Given the description of an element on the screen output the (x, y) to click on. 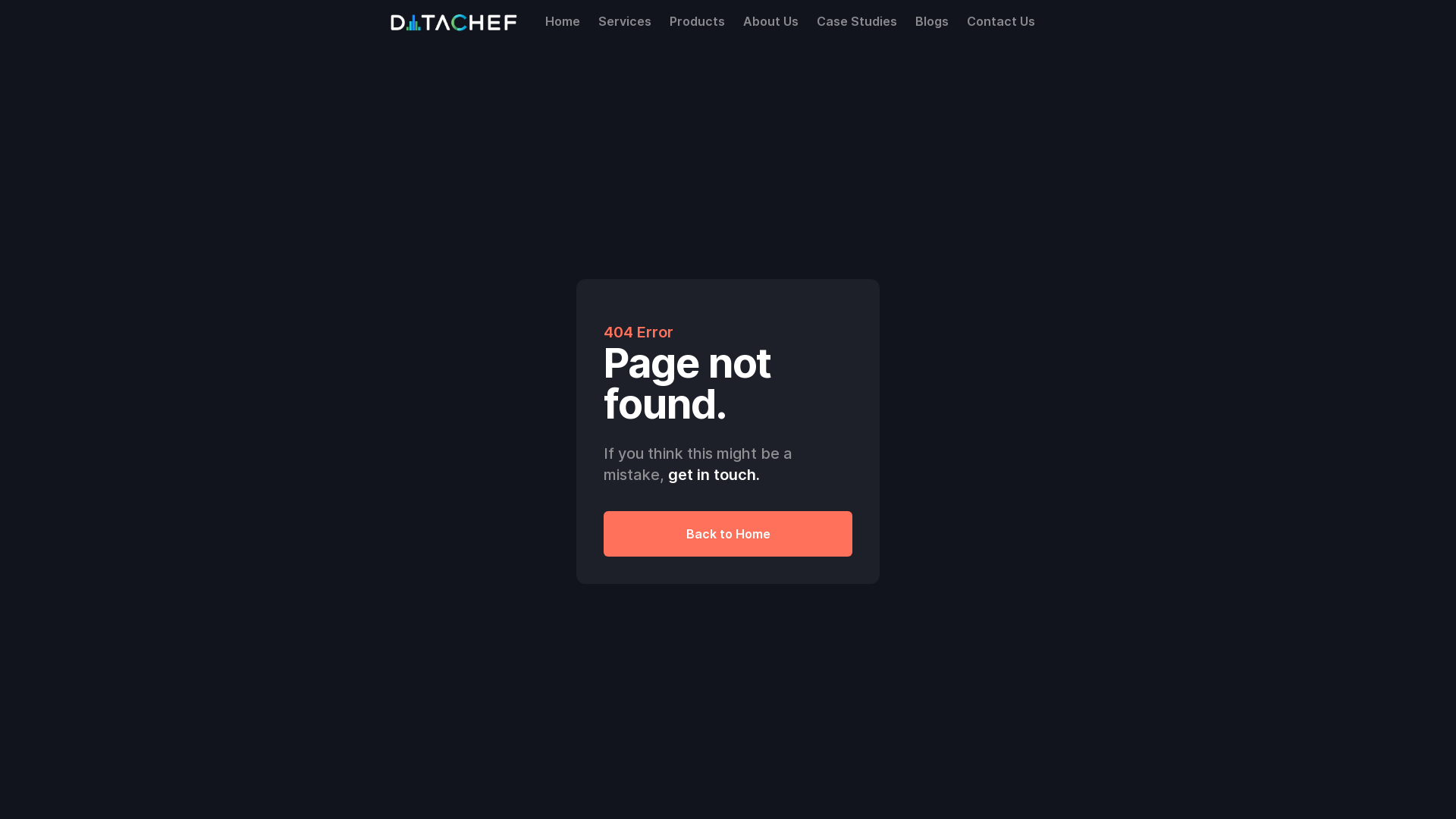
Back to Home Element type: text (727, 533)
Blogs Element type: text (931, 21)
get in touch. Element type: text (713, 474)
Home Element type: text (562, 21)
Contact Us Element type: text (1000, 21)
Services Element type: text (624, 21)
Case Studies Element type: text (856, 21)
Products Element type: text (696, 21)
About Us Element type: text (770, 21)
